Given the description of an element on the screen output the (x, y) to click on. 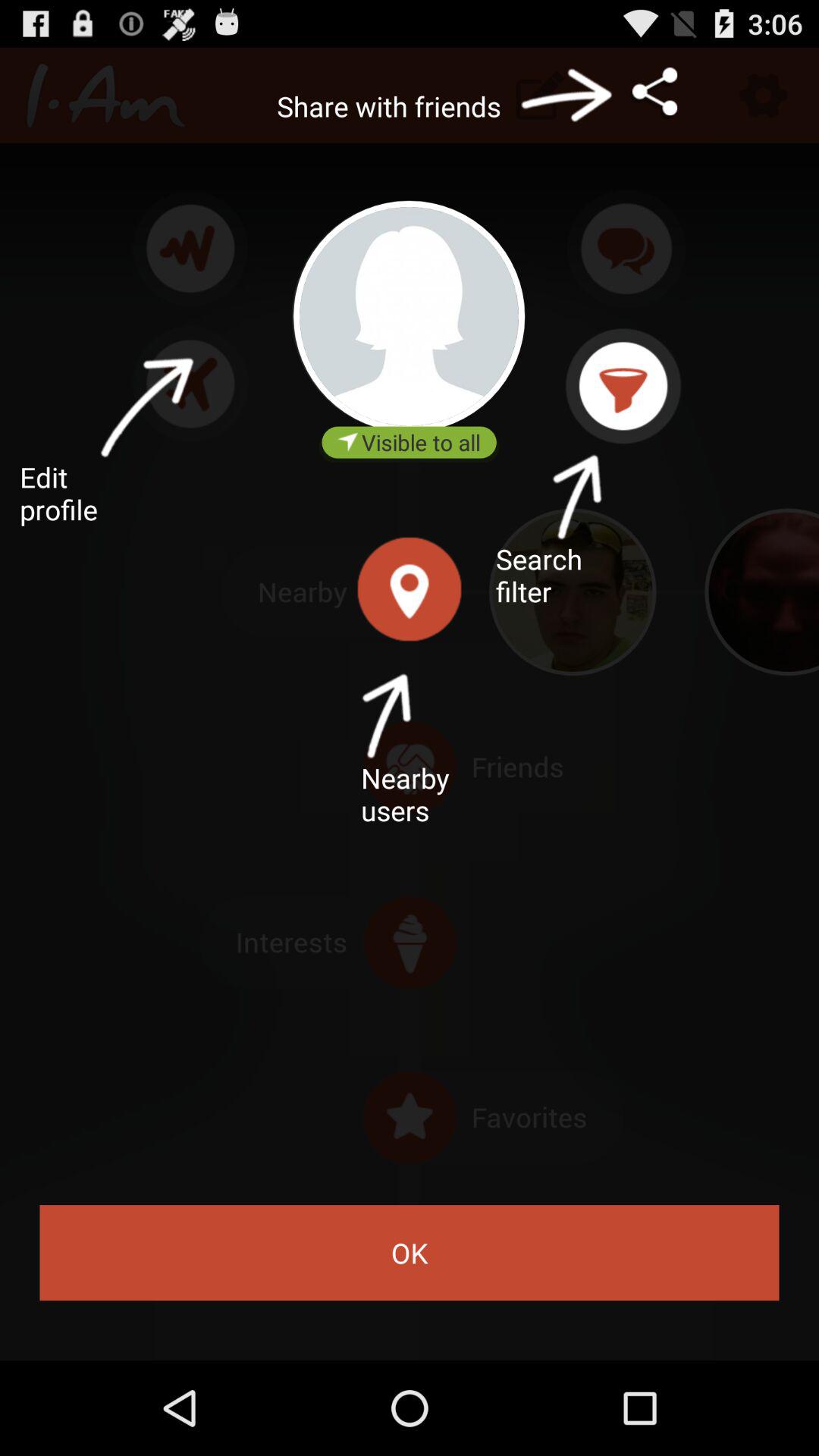
open the icon below share with friends (408, 316)
